Given the description of an element on the screen output the (x, y) to click on. 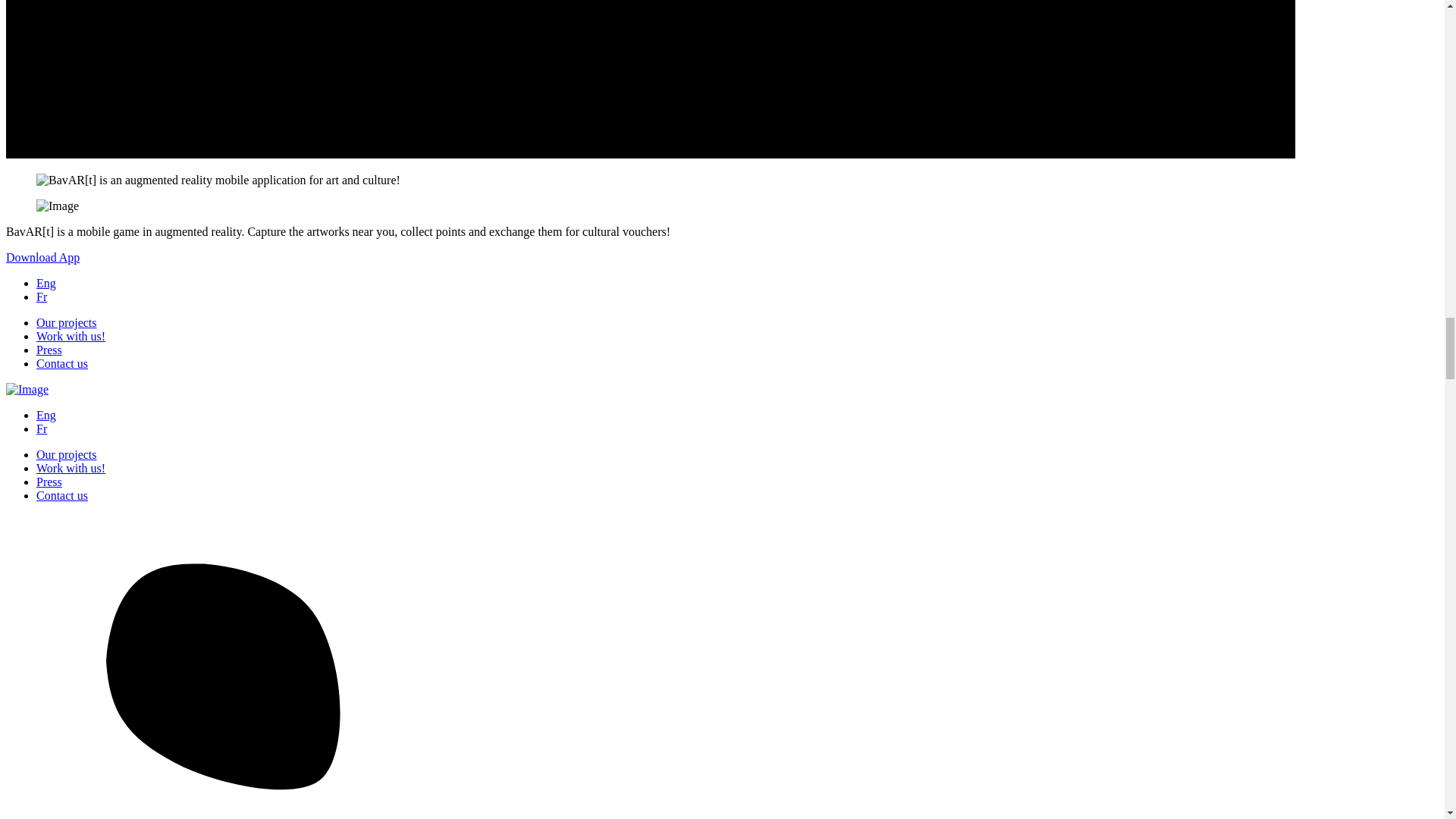
Press (49, 349)
Our projects (66, 322)
Work with us! (70, 336)
Eng (46, 282)
Press (49, 481)
Work with us! (70, 468)
Our projects (66, 454)
Contact us (61, 495)
Download App (42, 256)
Contact us (61, 363)
Eng (46, 414)
